Given the description of an element on the screen output the (x, y) to click on. 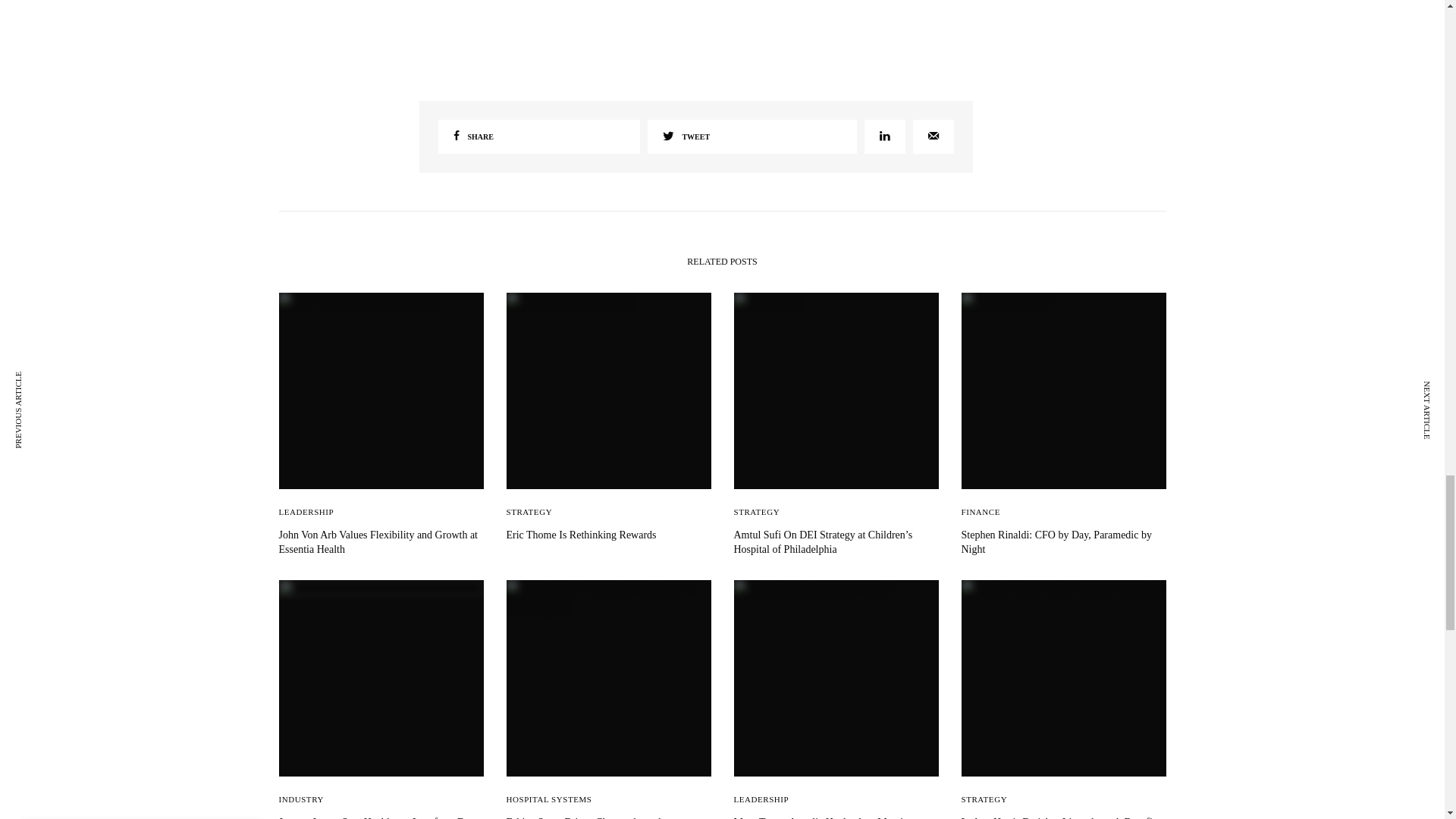
Fabian Stone Brings Change through Transparency (608, 816)
Mary Terese Agoglia Hoeltzel on Merging Disparate Cultures (836, 816)
LeAnn Harris Enriches Lives through Benefits (1063, 816)
Eric Thome Is Rethinking Rewards (608, 534)
Stephen Rinaldi: CFO by Day, Paramedic by Night (1063, 542)
